Given the description of an element on the screen output the (x, y) to click on. 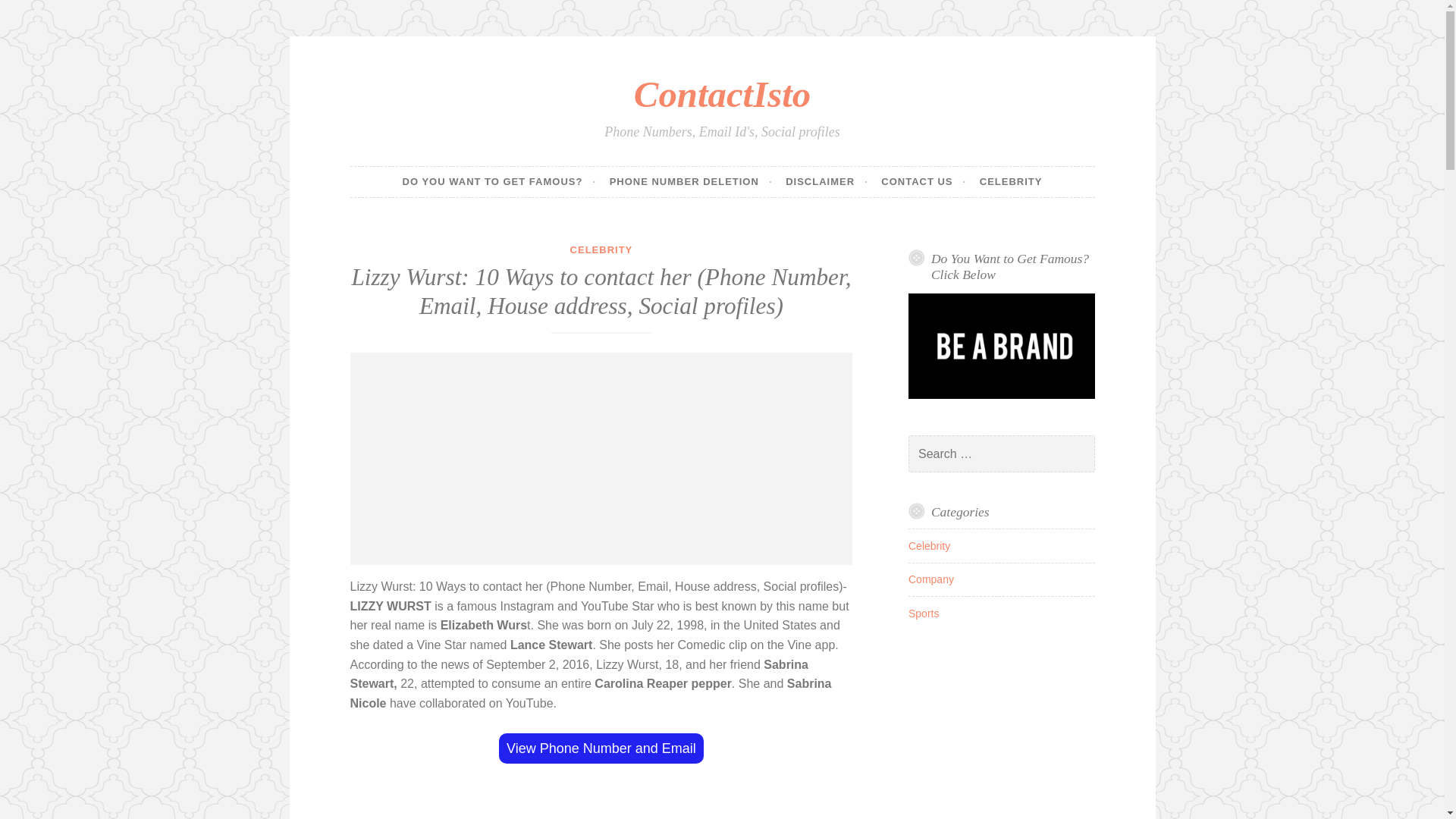
CELEBRITY (1010, 182)
DO YOU WANT TO GET FAMOUS? (499, 182)
PHONE NUMBER DELETION (691, 182)
ContactIsto (721, 94)
View Phone Number and Email (601, 748)
DISCLAIMER (826, 182)
Search (33, 13)
CELEBRITY (601, 249)
Sports (923, 613)
Celebrity (929, 545)
